Given the description of an element on the screen output the (x, y) to click on. 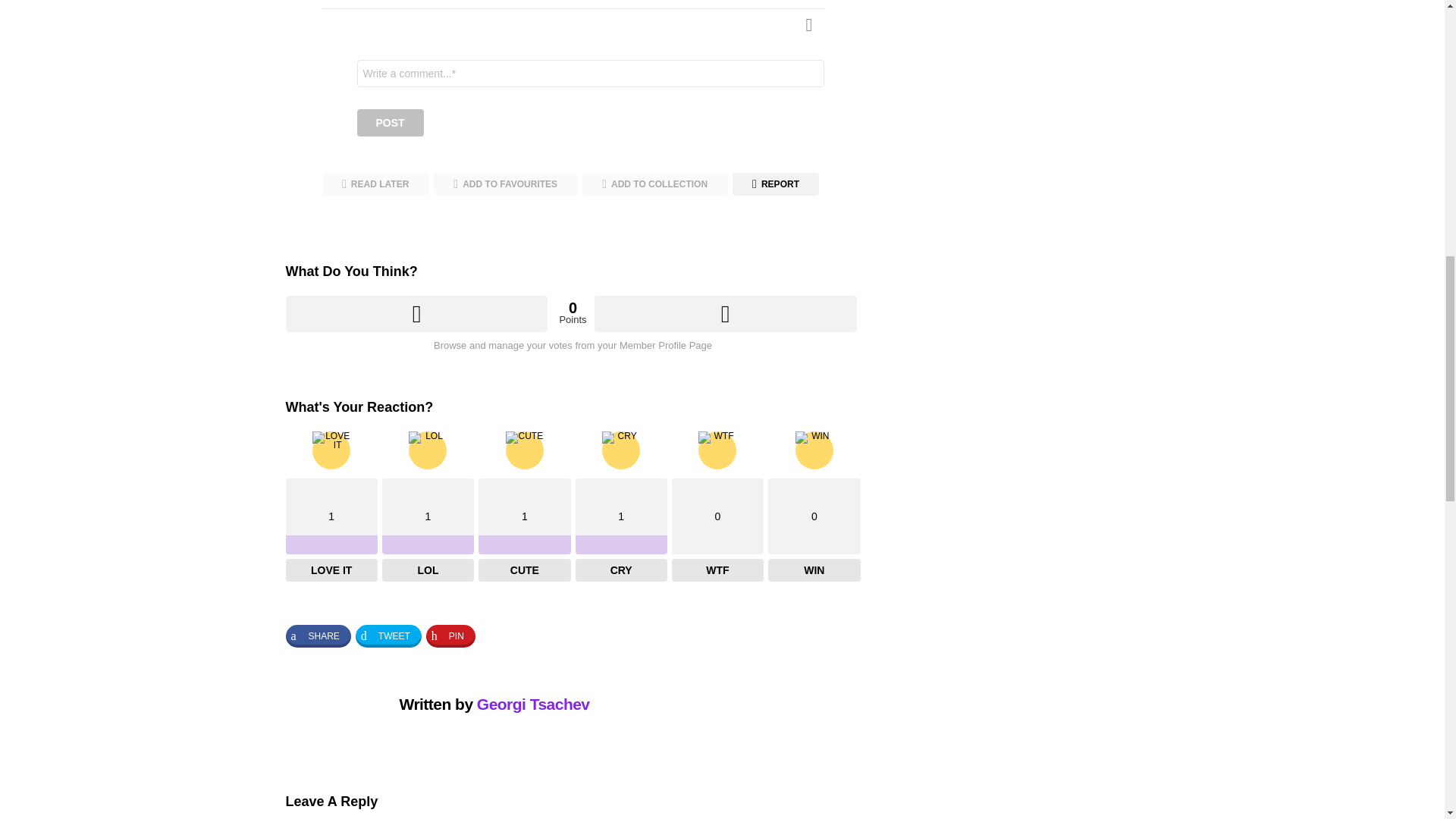
READ LATER (374, 184)
Georgi Tsachev (533, 703)
Downvote (725, 313)
Upvote (416, 313)
PIN (451, 635)
ADD TO FAVOURITES (505, 184)
Post (389, 122)
More (814, 24)
Share on Share (317, 635)
TWEET (388, 635)
